Given the description of an element on the screen output the (x, y) to click on. 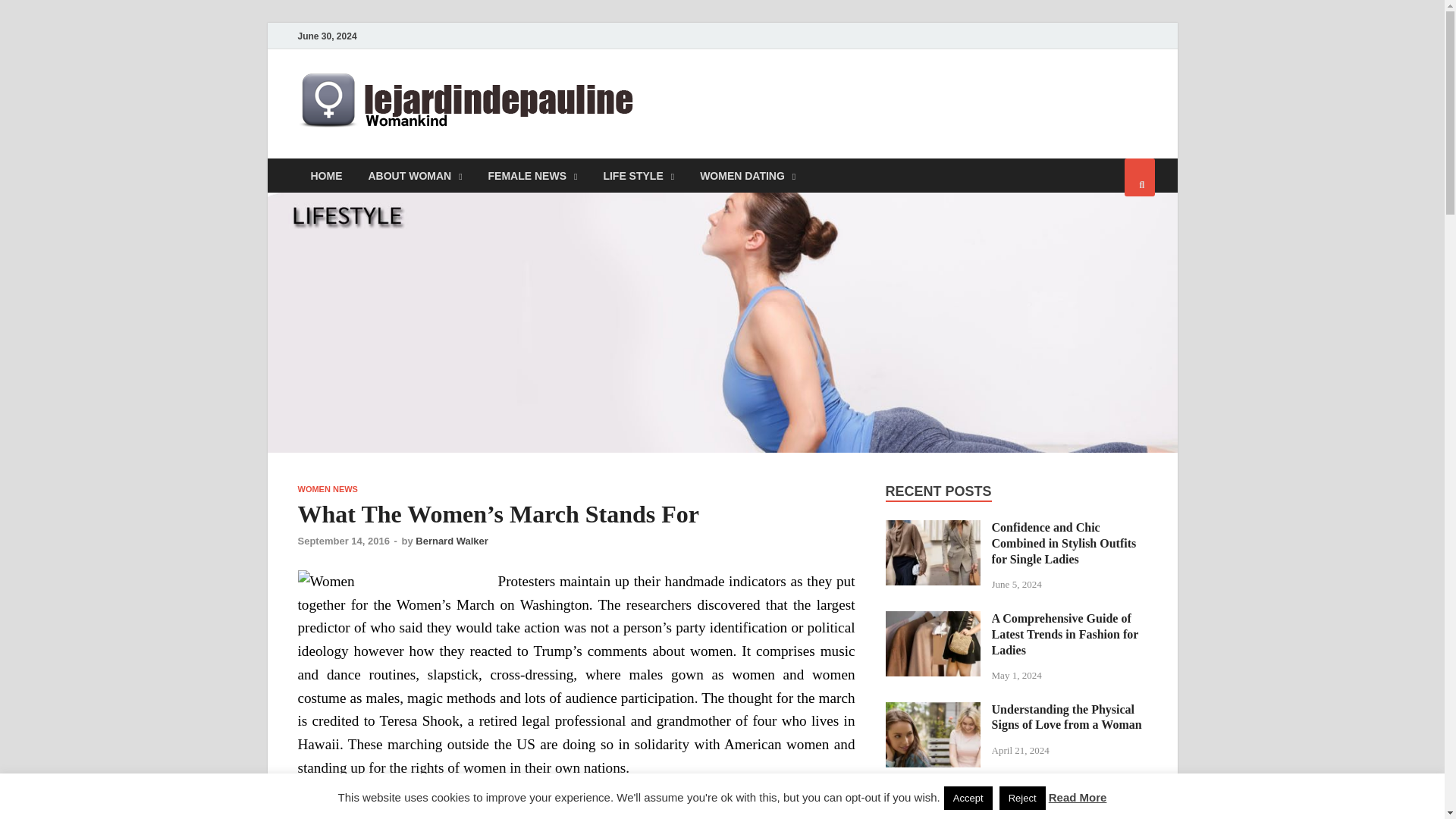
Understanding the Physical Signs of Love from a Woman (932, 710)
HOME (326, 175)
ABOUT WOMAN (414, 175)
WOMEN DATING (747, 175)
LIFE STYLE (638, 175)
FEMALE NEWS (533, 175)
A Comprehensive Guide of Latest Trends in Fashion for Ladies (932, 619)
lejardindepauline.com (802, 100)
